Given the description of an element on the screen output the (x, y) to click on. 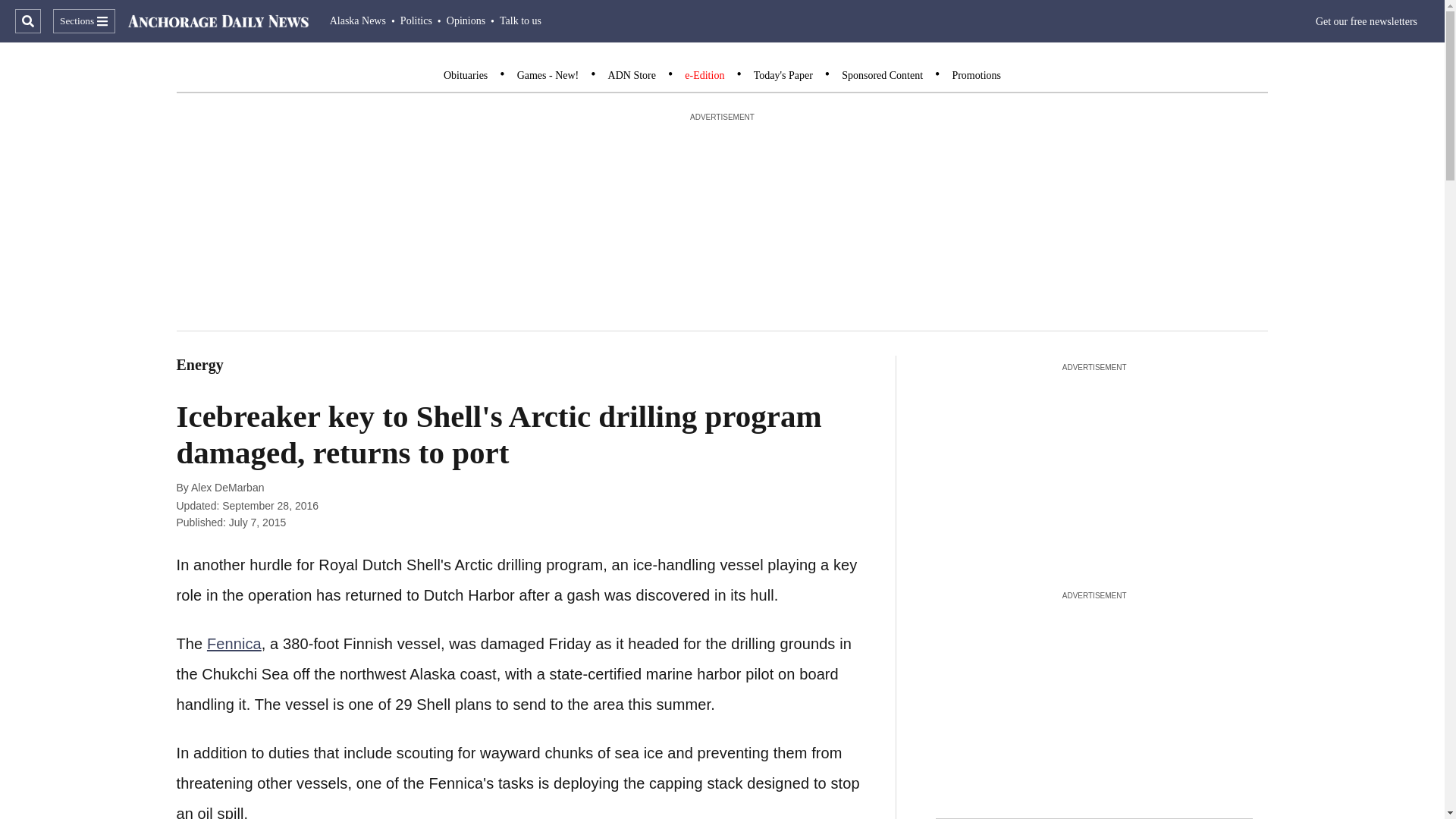
Opinions (465, 20)
Sections (83, 21)
Get our free newsletters (1366, 21)
ADN Logo (218, 20)
Alaska News (357, 20)
Politics (416, 20)
